Given the description of an element on the screen output the (x, y) to click on. 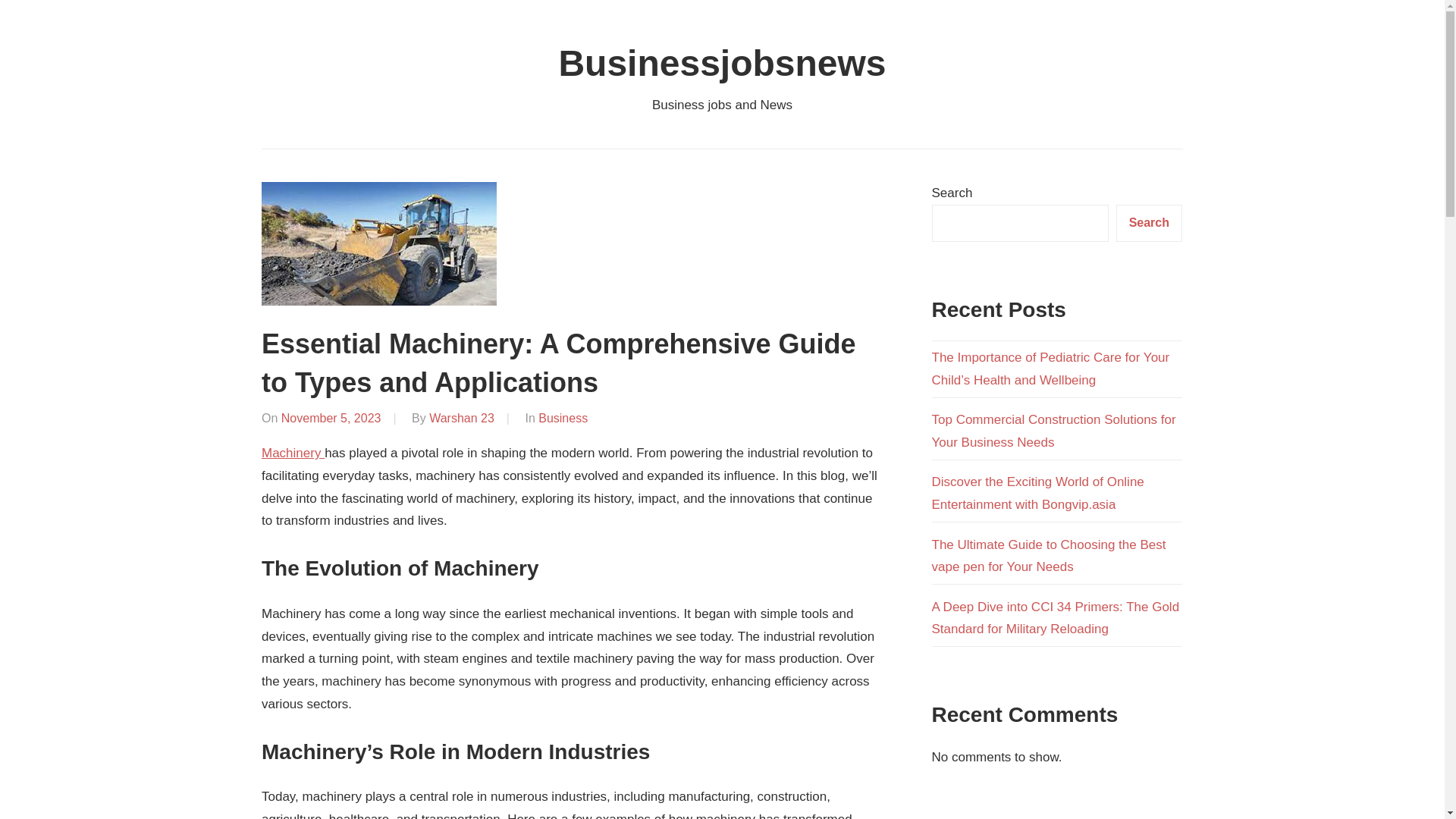
Machinery (293, 452)
Search (1149, 222)
Warshan 23 (462, 418)
November 5, 2023 (331, 418)
6:34 am (331, 418)
View all posts by Warshan 23 (462, 418)
